Given the description of an element on the screen output the (x, y) to click on. 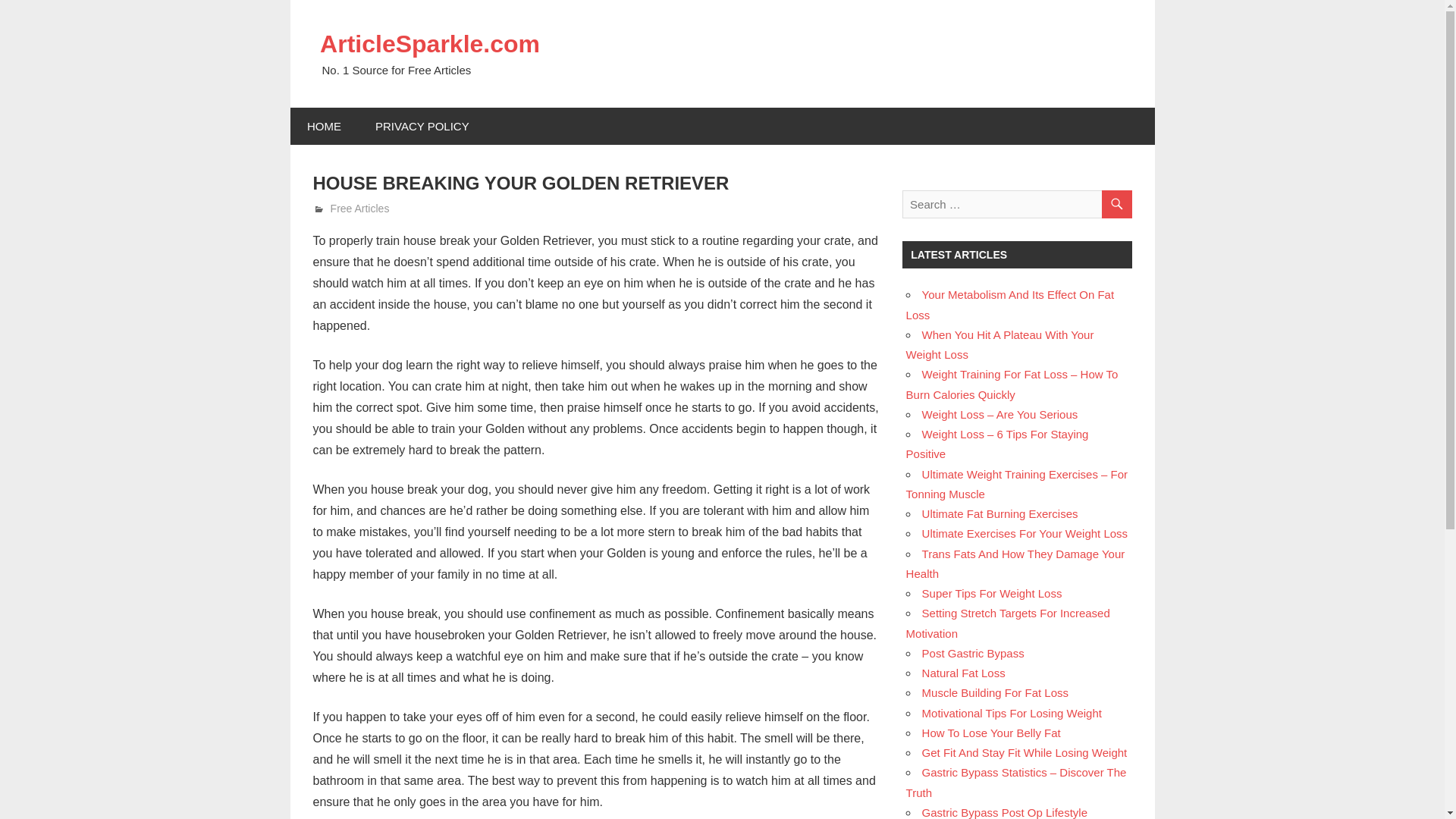
How To Lose Your Belly Fat (991, 732)
Muscle Building For Fat Loss (994, 692)
PRIVACY POLICY (422, 125)
Gastric Bypass Post Op Lifestyle (1004, 812)
Natural Fat Loss (963, 672)
Trans Fats And How They Damage Your Health (1015, 563)
Super Tips For Weight Loss (991, 593)
January 12, 2010 (368, 208)
Motivational Tips For Losing Weight (1011, 712)
Search for: (1016, 204)
